Given the description of an element on the screen output the (x, y) to click on. 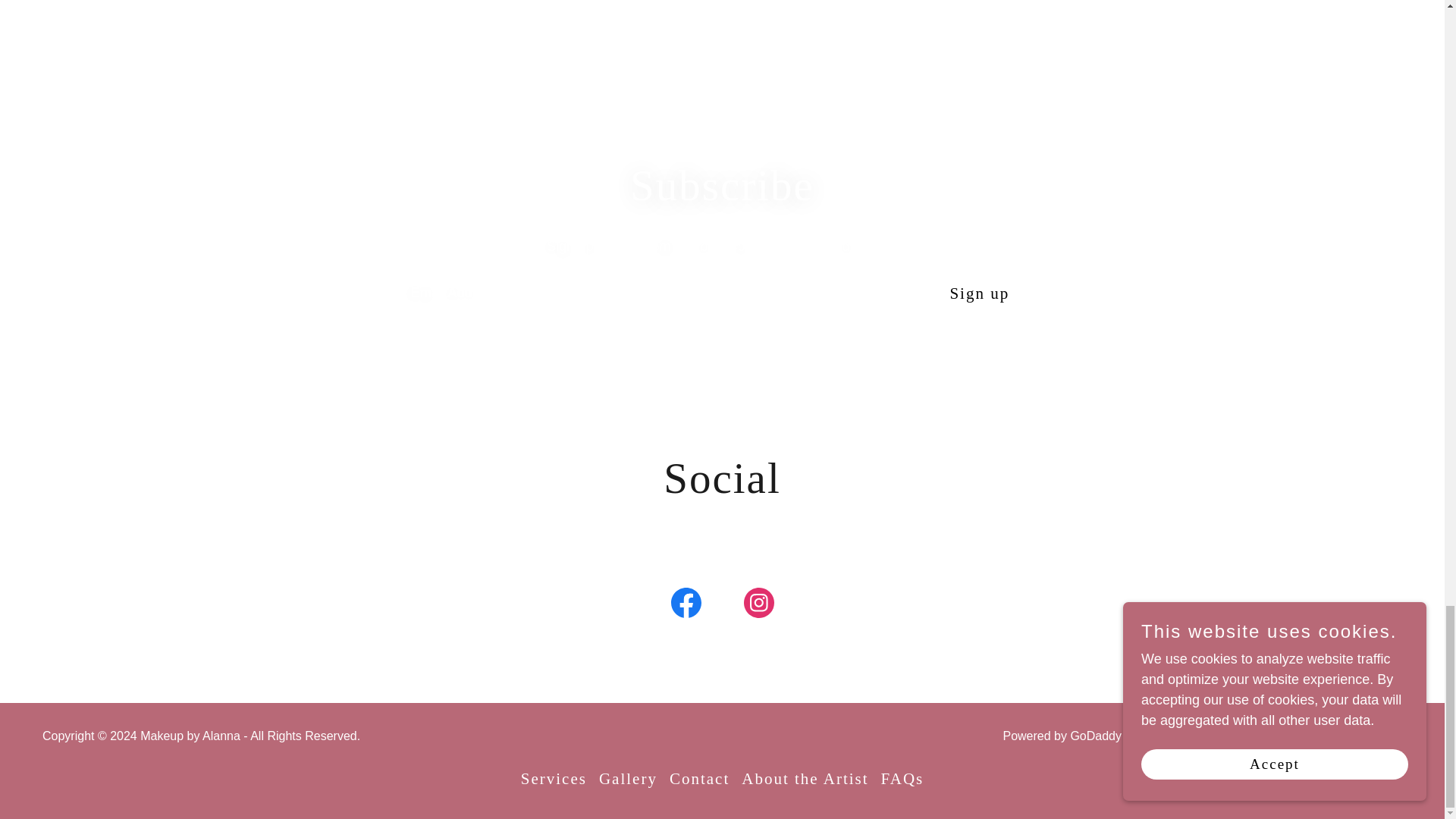
Contact (699, 778)
Gallery (627, 778)
About the Artist (805, 778)
Sign up (978, 292)
FAQs (902, 778)
GoDaddy (1095, 735)
Services (553, 778)
